Given the description of an element on the screen output the (x, y) to click on. 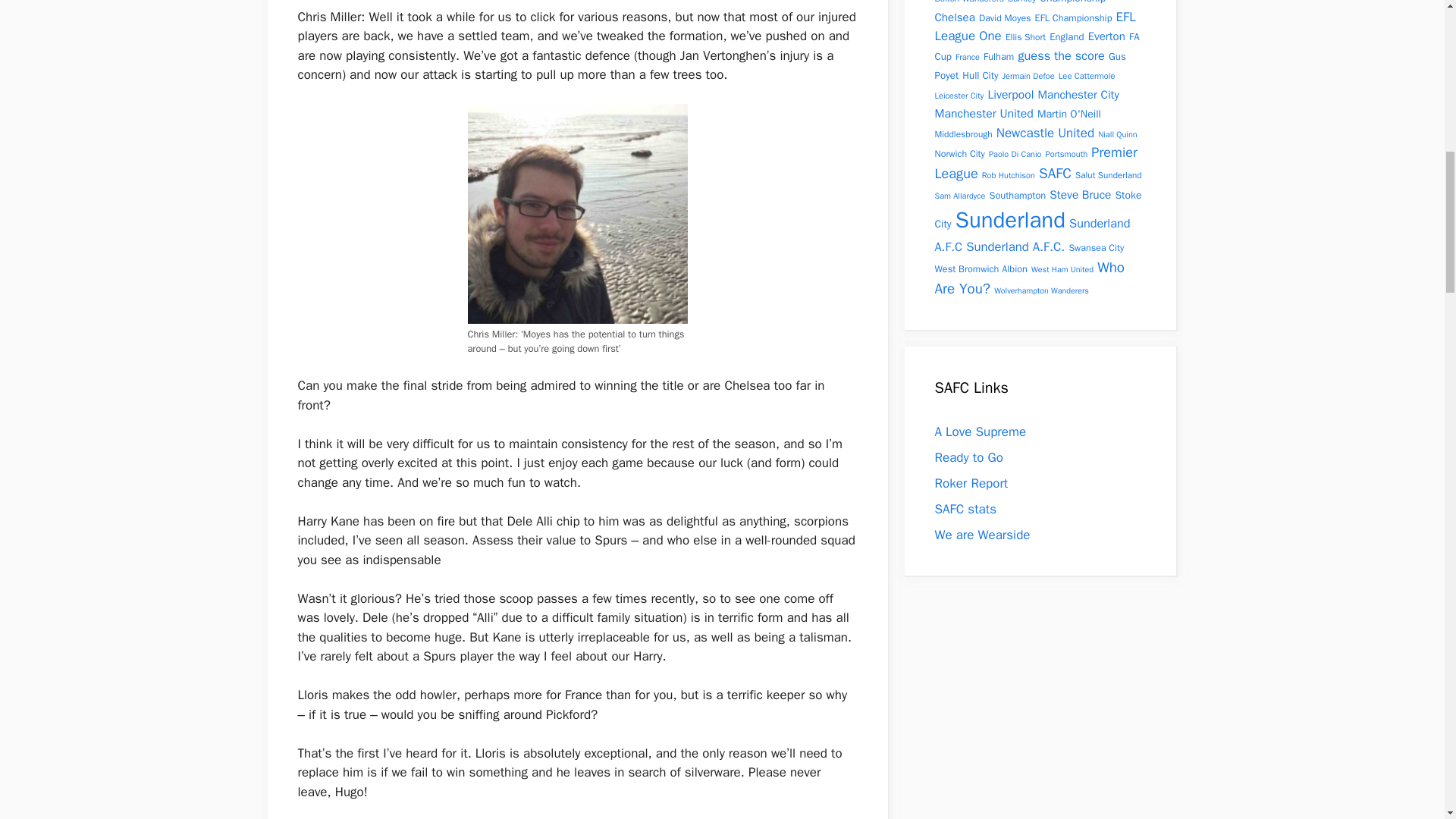
Championship (1072, 2)
Chelsea (954, 16)
Burnley (1021, 2)
Bolton Wanderers (968, 2)
David Moyes (1004, 18)
EFL League One (1034, 27)
EFL Championship (1073, 18)
